Given the description of an element on the screen output the (x, y) to click on. 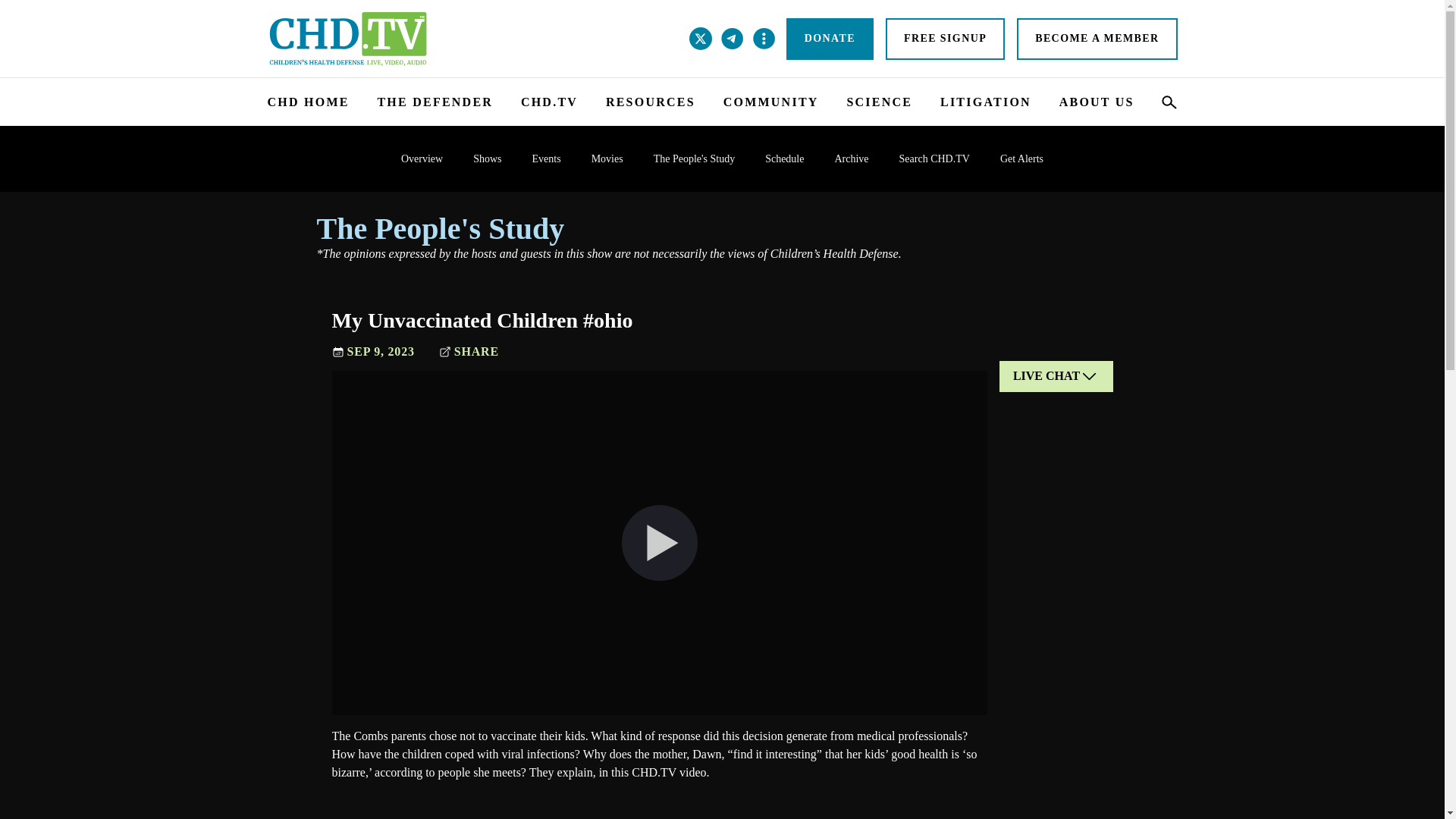
Archive (850, 158)
Search CHD.TV (934, 158)
SHARE (469, 351)
CHD.TV (549, 102)
THE DEFENDER (435, 102)
Movies (607, 158)
The People's Study (695, 158)
LITIGATION (985, 102)
ABOUT US (1096, 102)
